Given the description of an element on the screen output the (x, y) to click on. 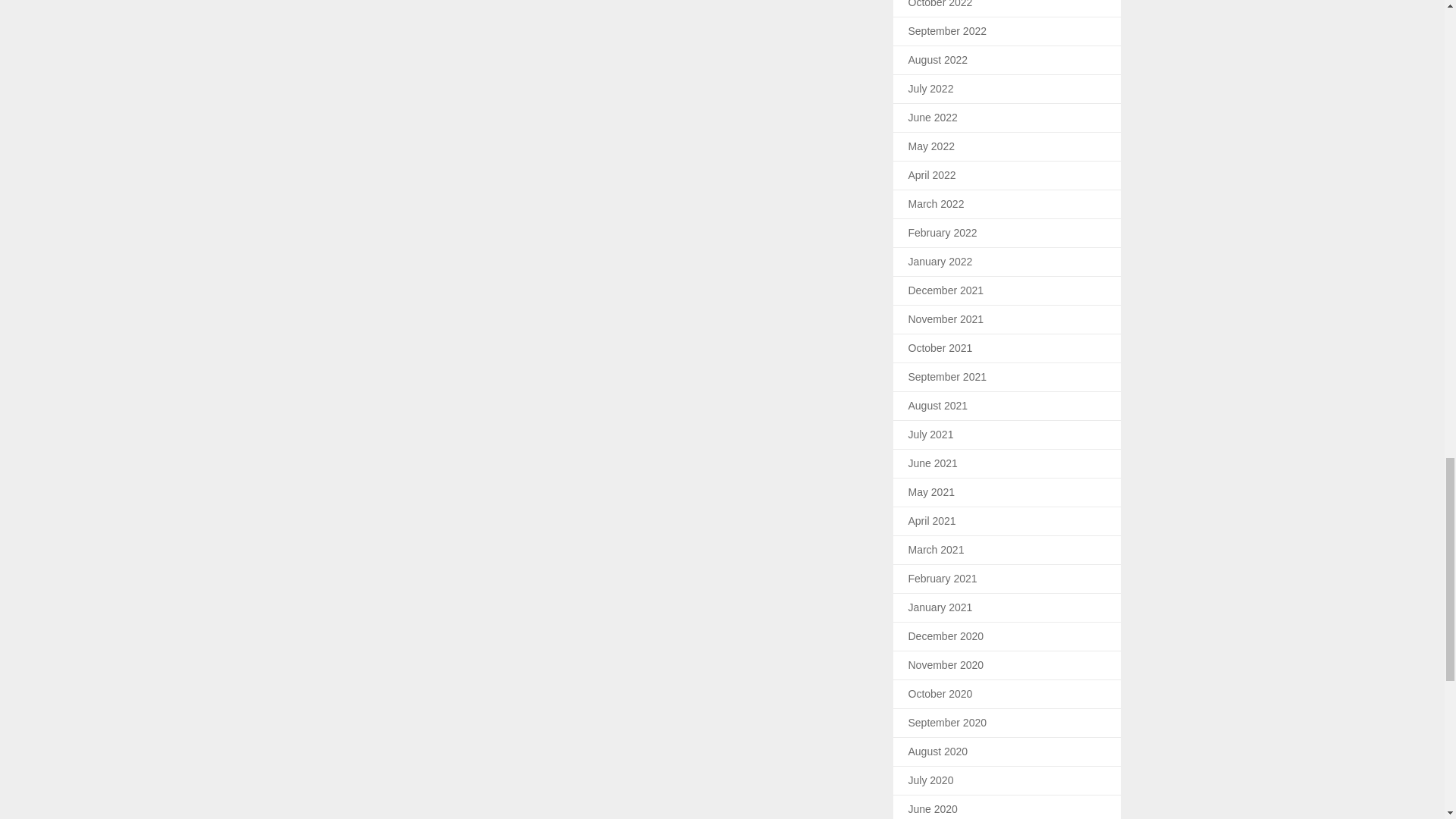
September 2022 (947, 30)
October 2022 (940, 4)
